Given the description of an element on the screen output the (x, y) to click on. 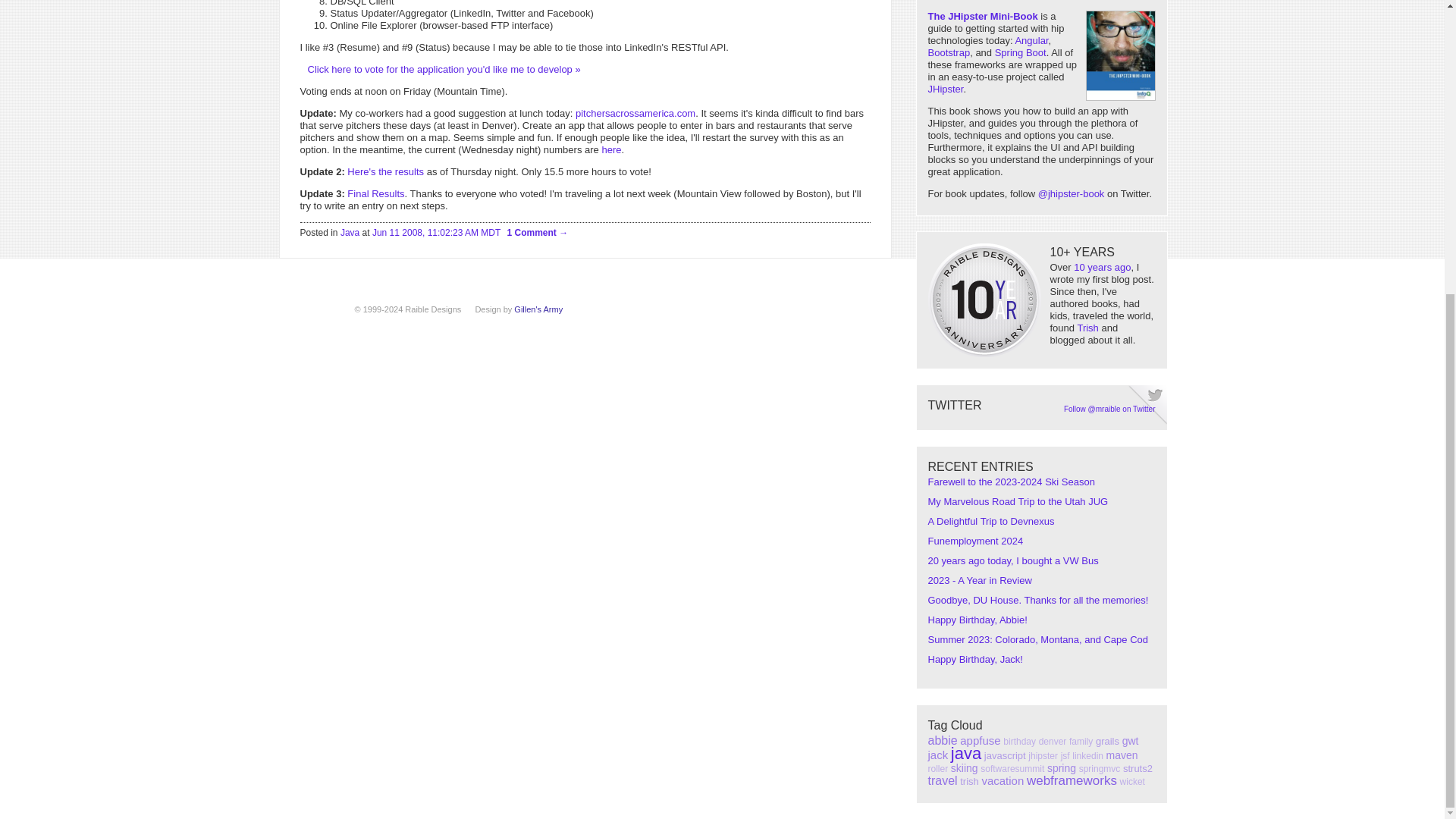
40 entries (1107, 740)
28 entries (1080, 741)
52 entries (1130, 740)
JHipster (945, 89)
Angular (1031, 40)
32 entries (1053, 741)
Spring Boot (1020, 52)
59 entries (979, 739)
The JHipster Mini-Book (983, 16)
Bootstrap (949, 52)
My Marvelous Road Trip to the Utah JUG (1018, 501)
10 years ago (1102, 266)
Trish (1087, 327)
Farewell to the 2023-2024 Ski Season (1011, 481)
67 entries (943, 739)
